Given the description of an element on the screen output the (x, y) to click on. 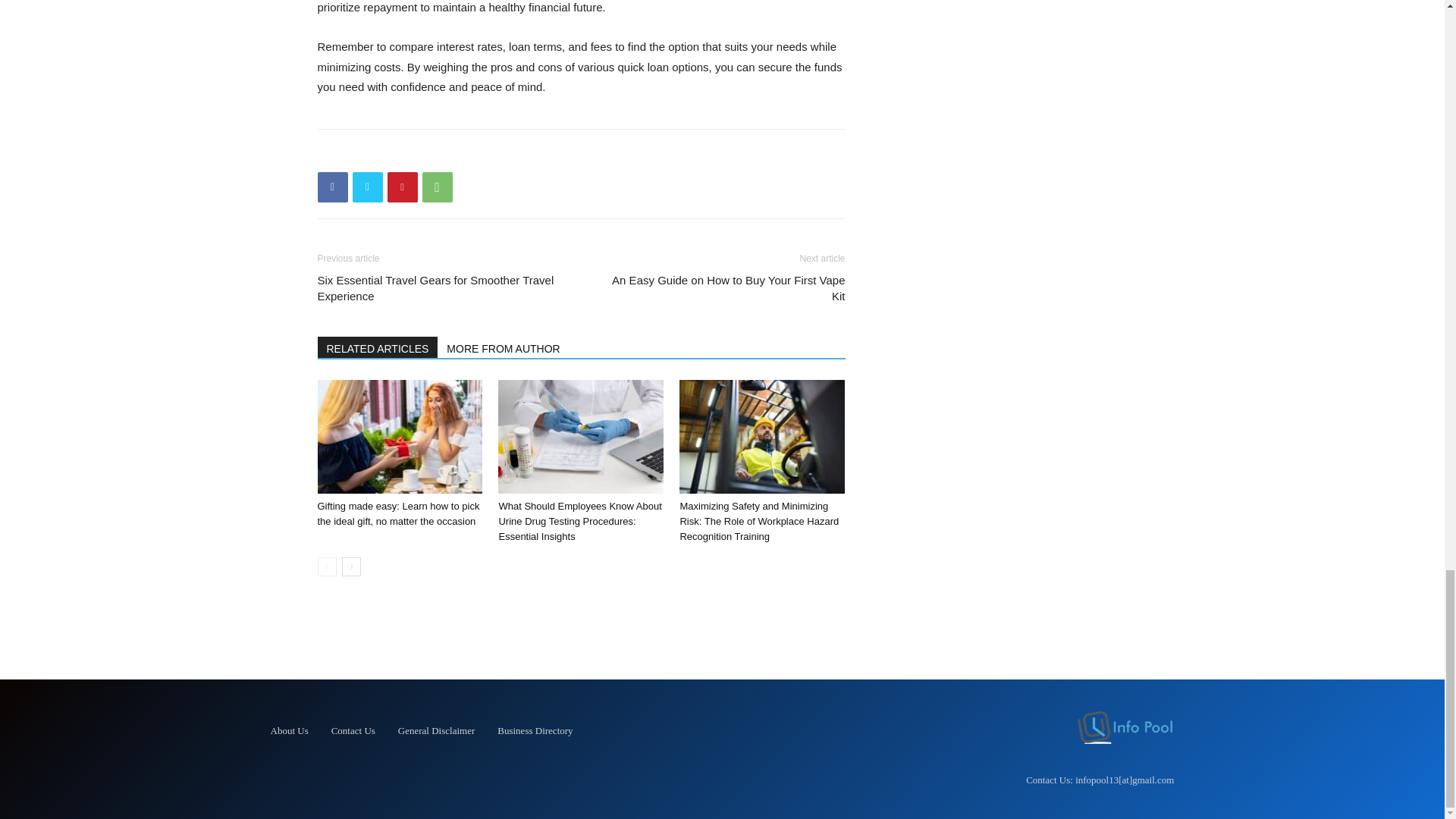
bottomFacebookLike (430, 153)
